Given the description of an element on the screen output the (x, y) to click on. 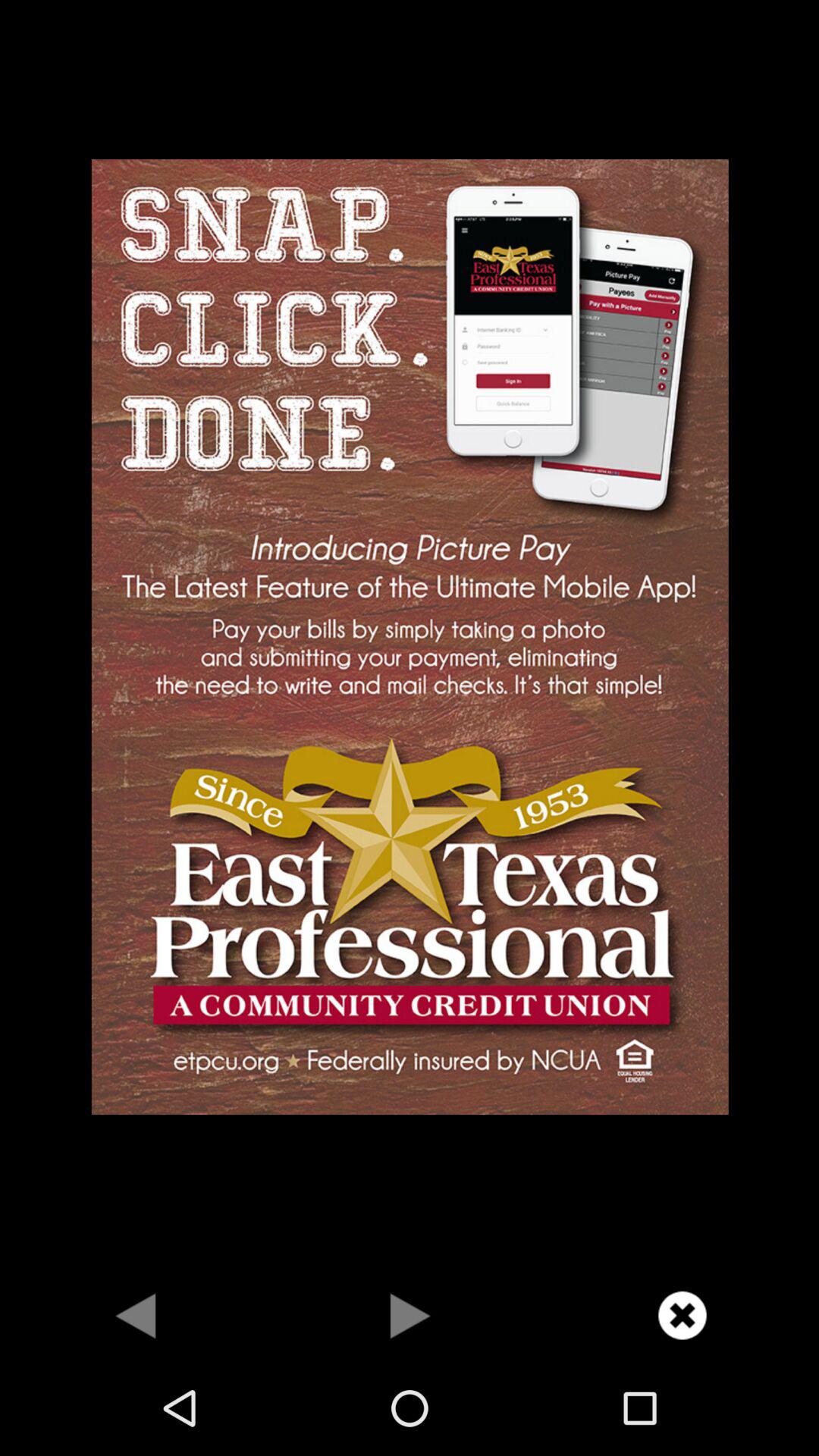
close window (682, 1315)
